Given the description of an element on the screen output the (x, y) to click on. 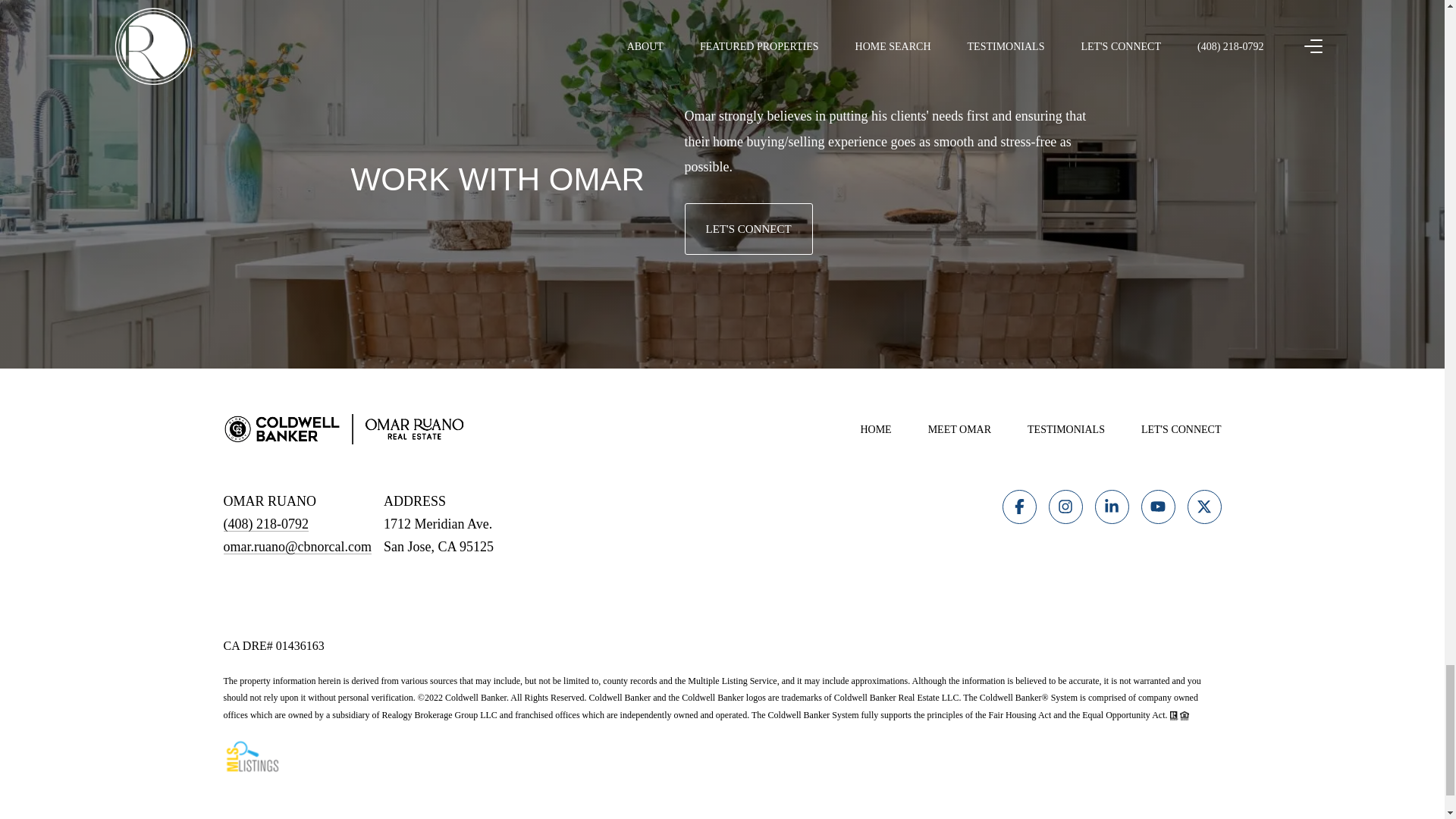
LET'S CONNECT (748, 228)
